Given the description of an element on the screen output the (x, y) to click on. 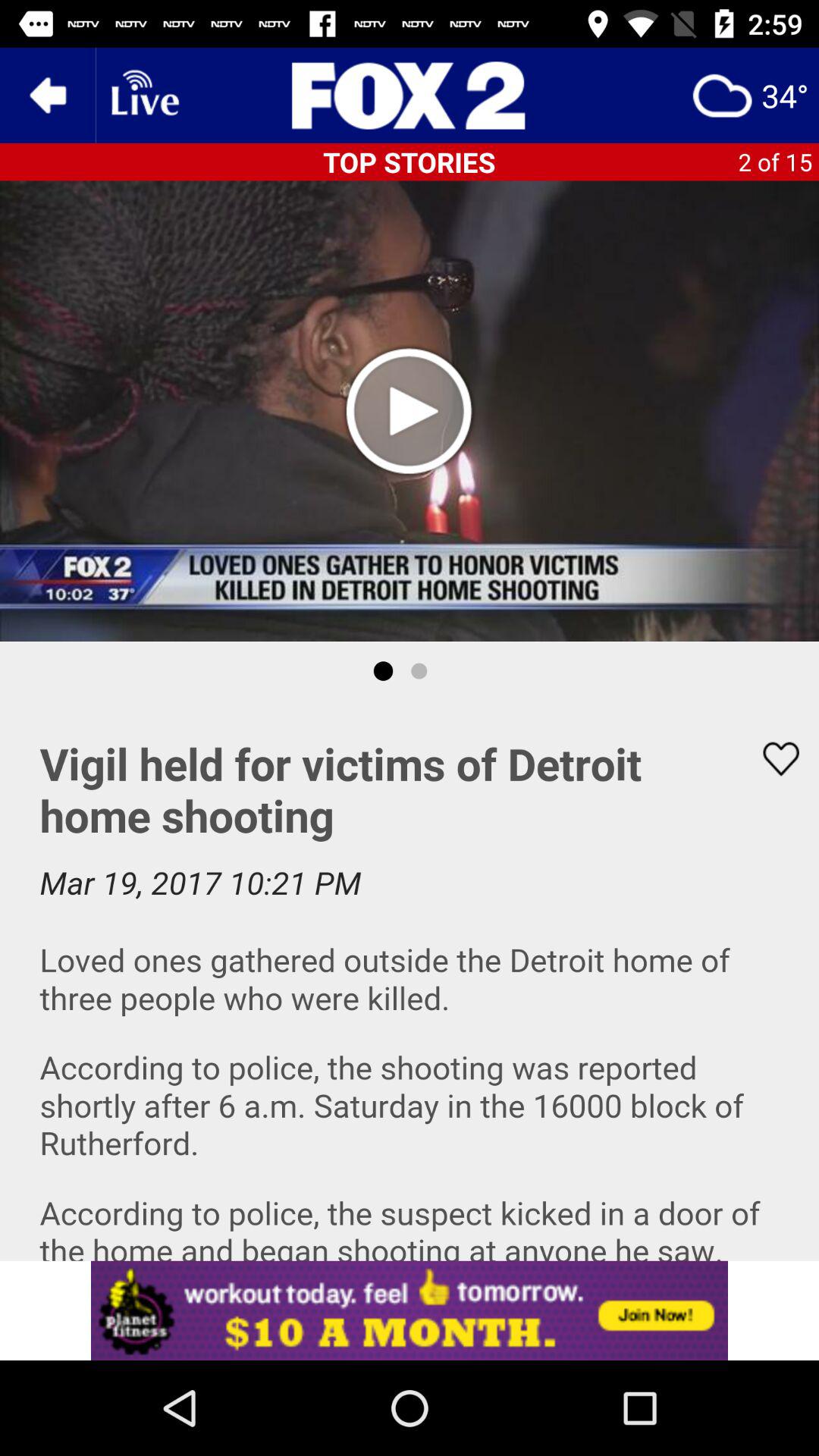
click the logo (409, 95)
